Given the description of an element on the screen output the (x, y) to click on. 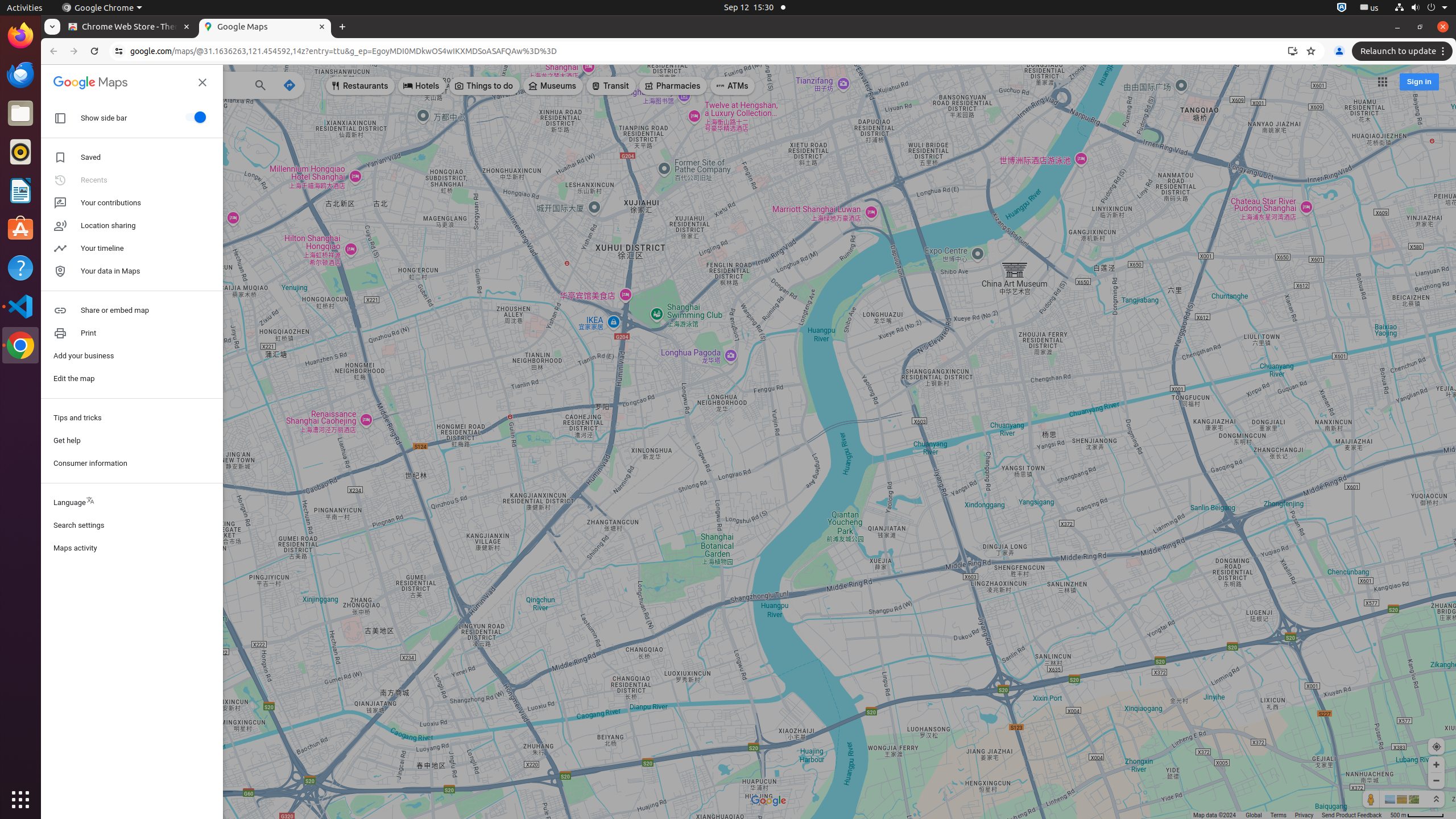
Get help Element type: menu-item (131, 440)
Zoom in Element type: push-button (1436, 764)
Language Element type: menu-item (131, 502)
Global Element type: push-button (1253, 815)
View site information Element type: push-button (118, 51)
